Given the description of an element on the screen output the (x, y) to click on. 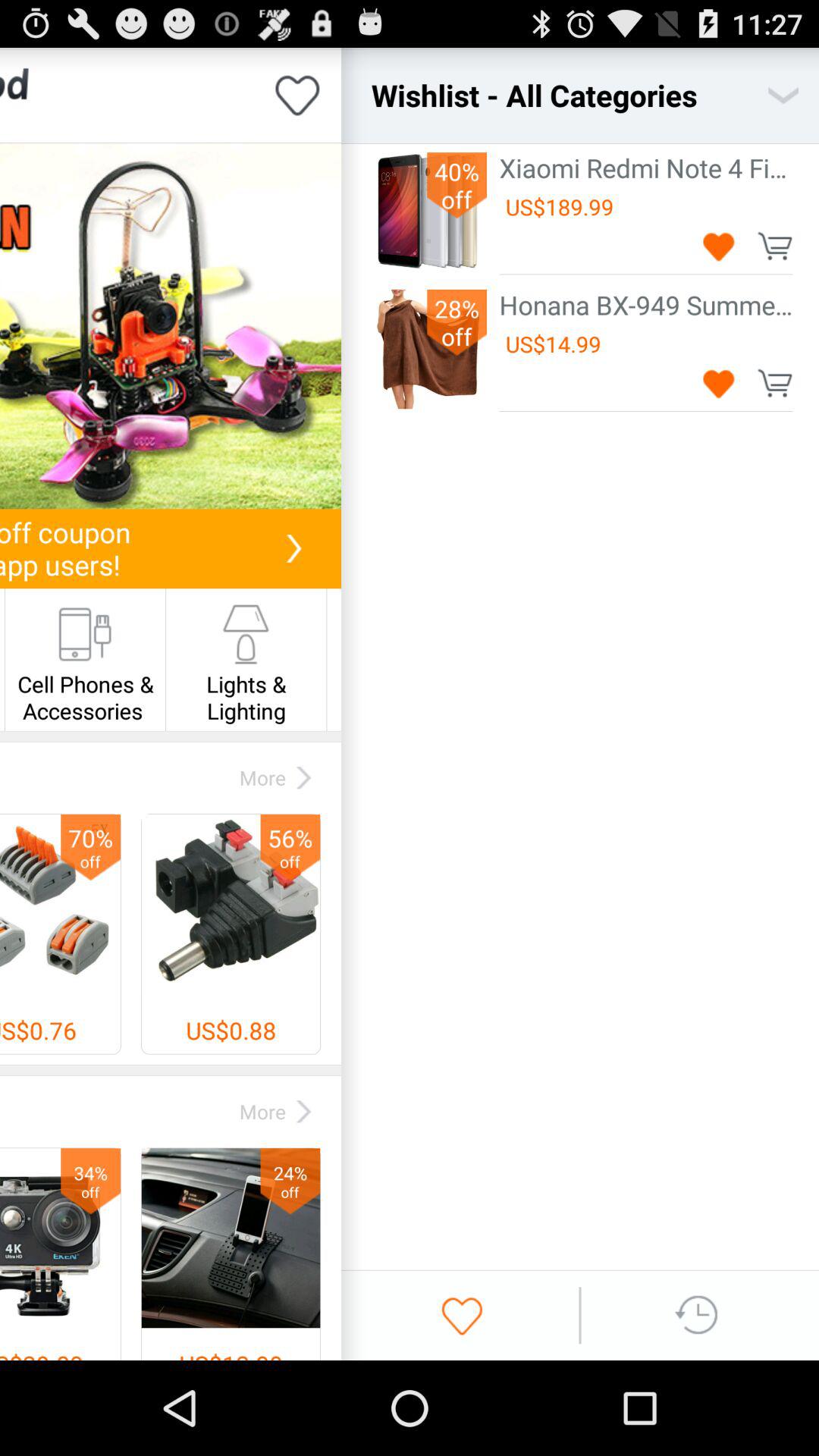
add to favorites (297, 95)
